Given the description of an element on the screen output the (x, y) to click on. 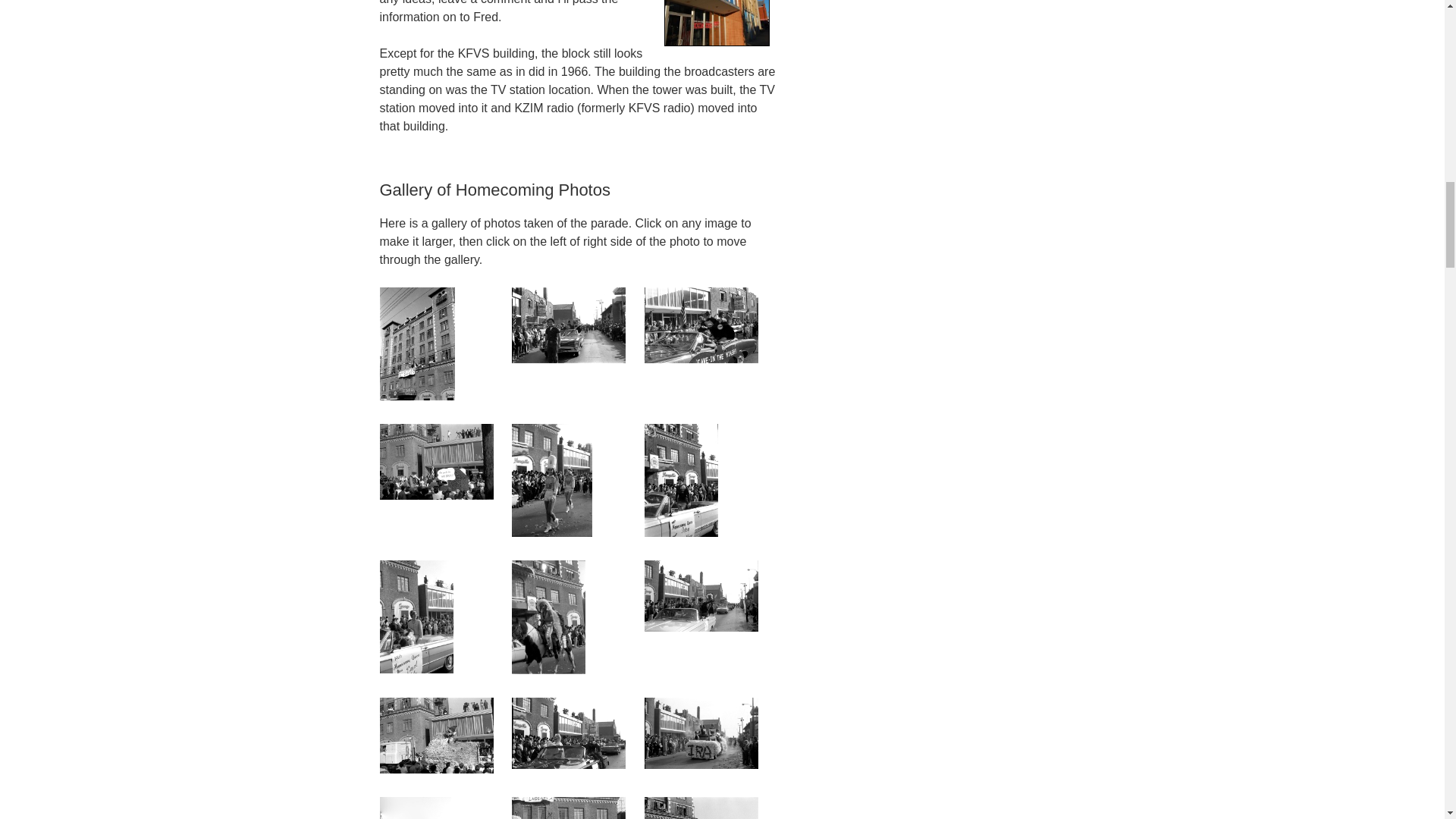
KFVS TV Office building 10-24-09 (716, 23)
